Given the description of an element on the screen output the (x, y) to click on. 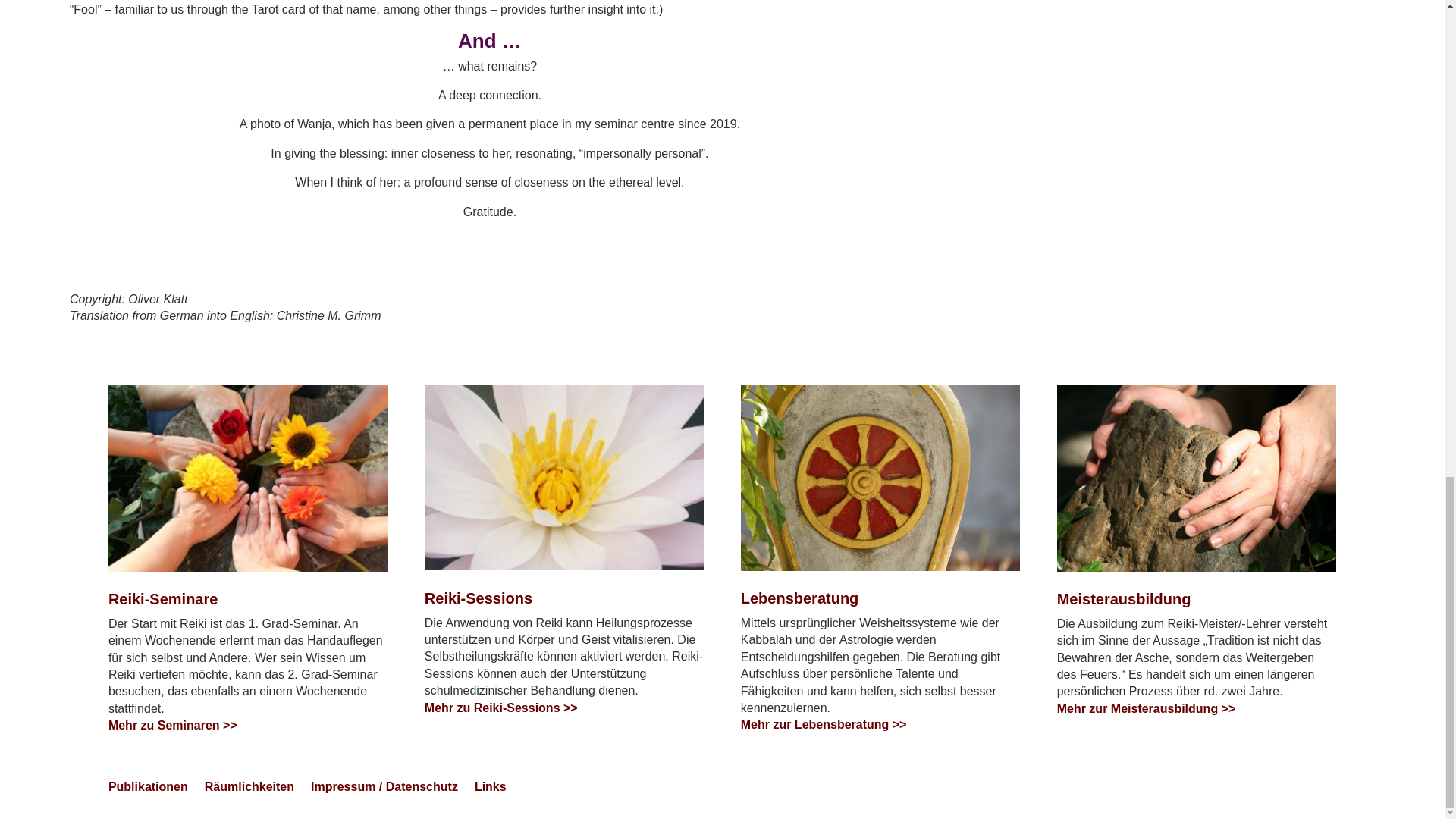
Reiki-Sessions (564, 477)
Lebensberatung (880, 477)
Publikationen (147, 790)
Reiki-Meisterausbildung (1196, 477)
Reiki-Seminare (247, 477)
